Given the description of an element on the screen output the (x, y) to click on. 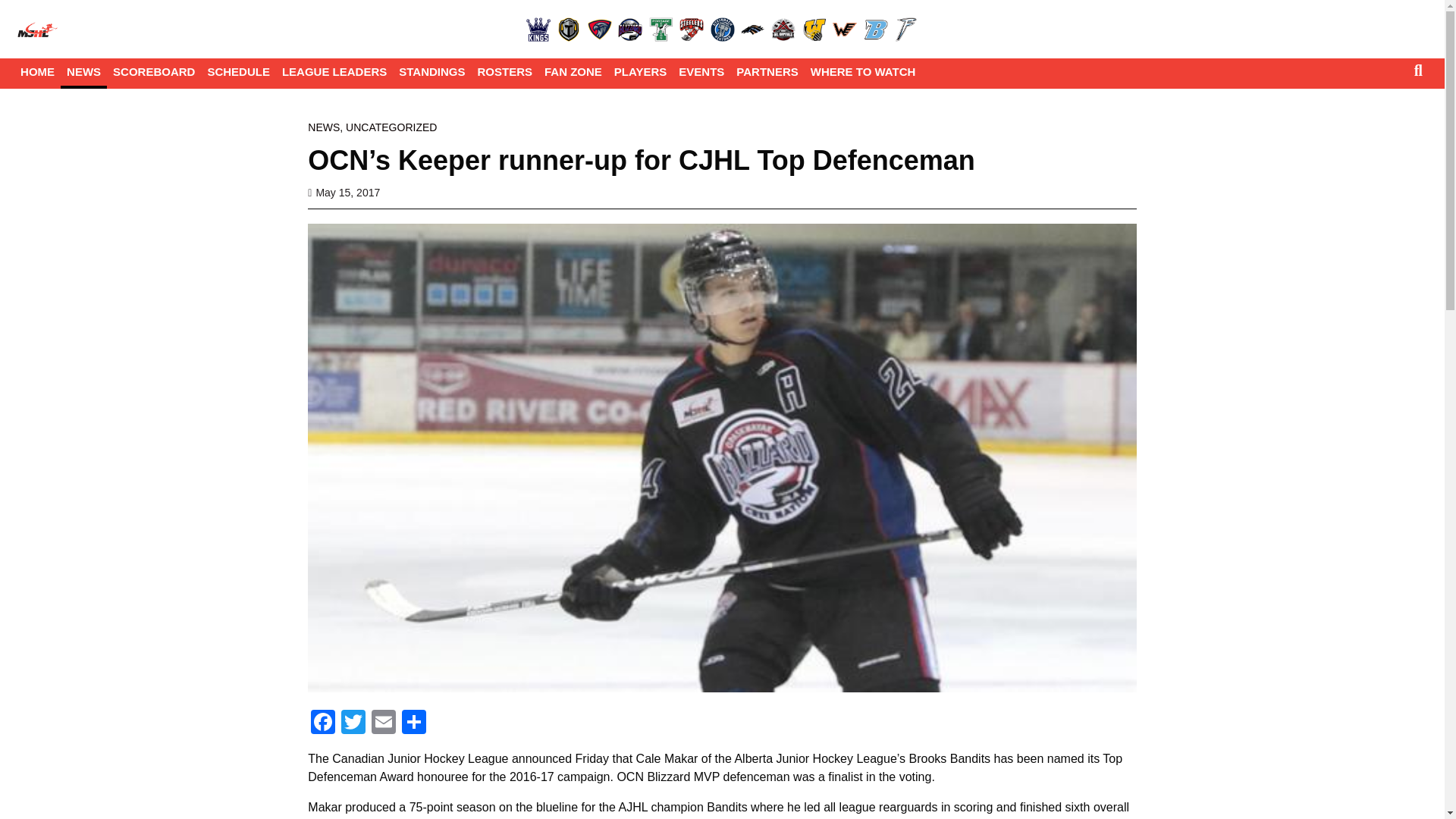
Virden Oil Capitals (783, 28)
Wayway Wolverines (814, 28)
Dauphin Kings (537, 28)
OCN Blizzard (629, 28)
Selkirk Steelers (691, 28)
Winnipeg Blues (875, 28)
Winkler Flyers (845, 28)
Swan Valley Stampeders (753, 28)
Steinbach Pistons (721, 28)
Niverville Nighthawks (599, 28)
Portage Terriers (661, 28)
Neepawa Titans (568, 28)
Manitoba Junior Hockey League (37, 28)
Winnipeg Freeze (906, 28)
